Given the description of an element on the screen output the (x, y) to click on. 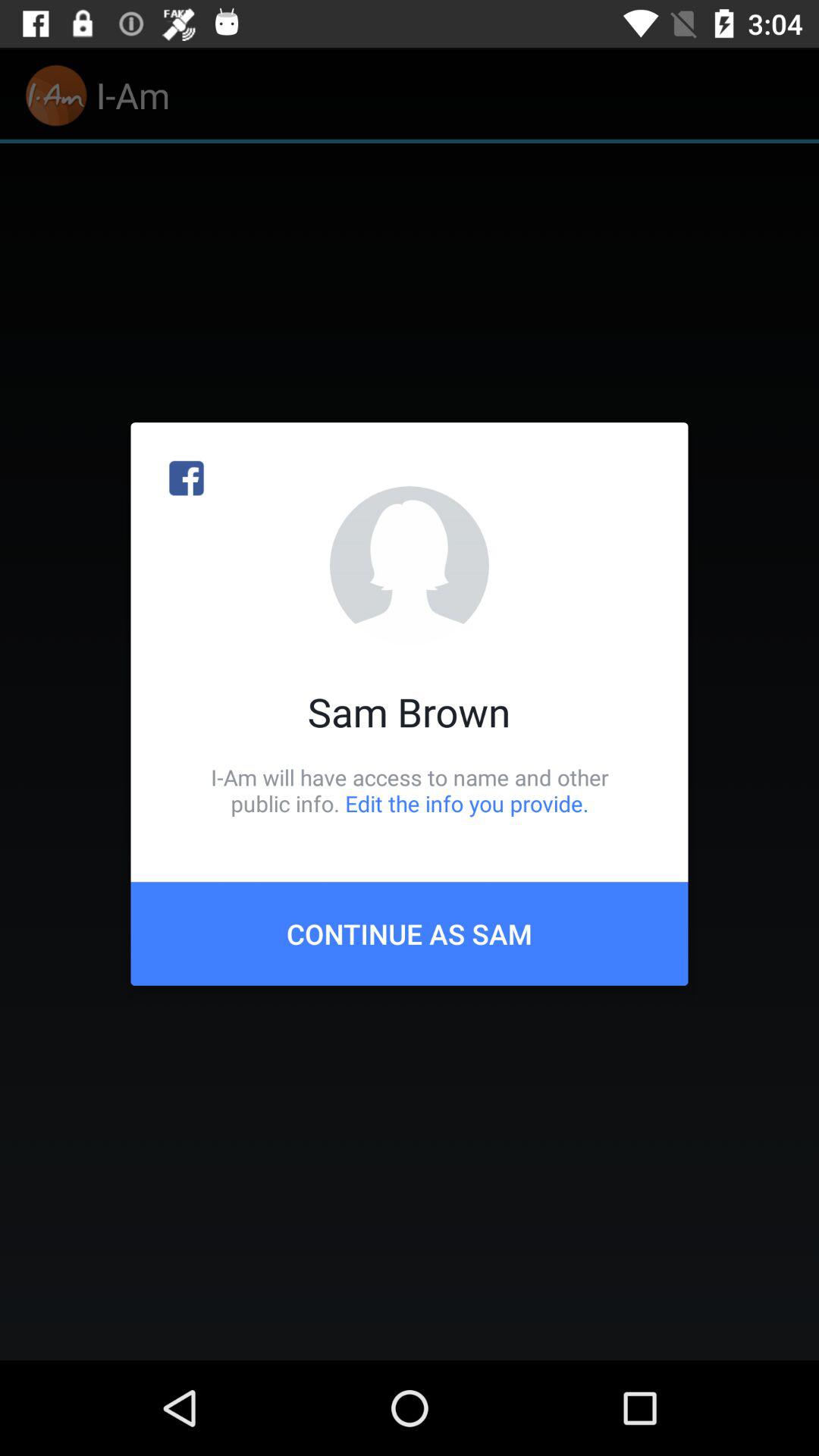
click the item above continue as sam item (409, 790)
